Given the description of an element on the screen output the (x, y) to click on. 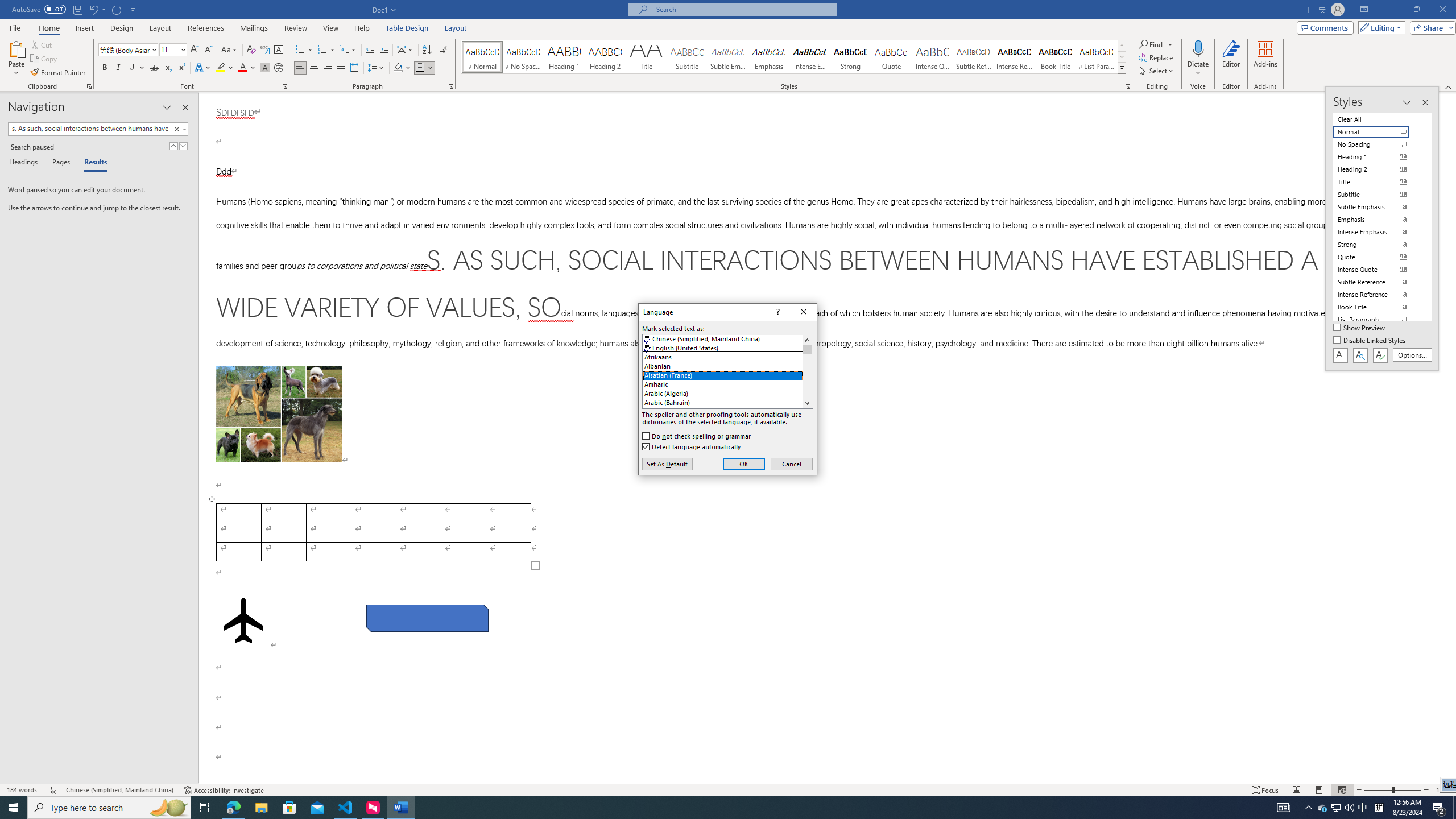
Character Shading (264, 67)
Paste (16, 48)
Font Size (169, 49)
Character Border (278, 49)
More Options (1197, 68)
Strikethrough (154, 67)
Detect language automatically (692, 446)
Clear (176, 128)
Line up (807, 339)
Restore Down (1416, 9)
Morphological variation in six dogs (278, 414)
Line down (807, 402)
Bullets (300, 49)
